Given the description of an element on the screen output the (x, y) to click on. 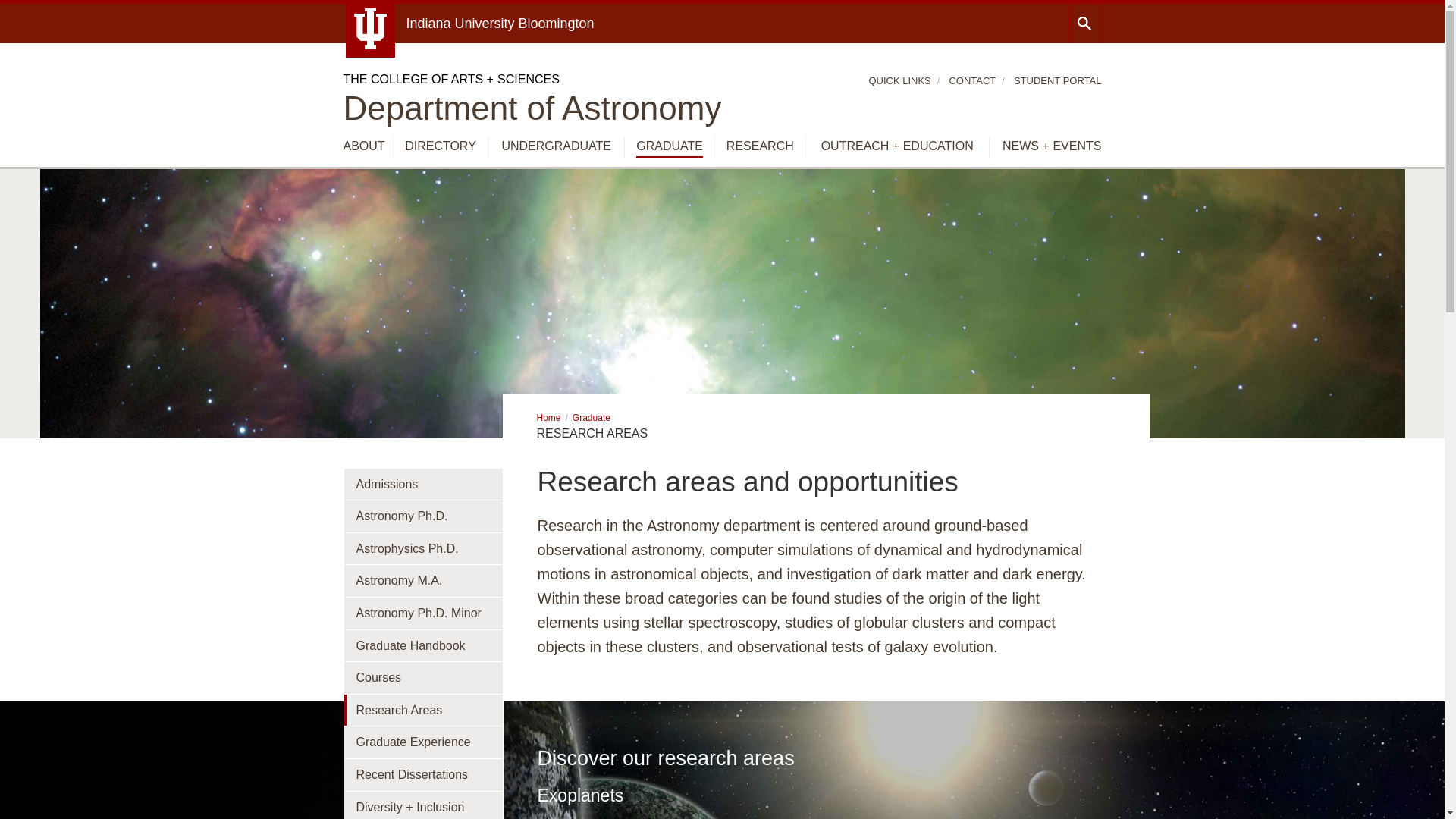
DIRECTORY (440, 146)
ABOUT (363, 146)
UNDERGRADUATE (555, 146)
Department of Astronomy (531, 107)
Indiana University Bloomington (500, 23)
GRADUATE (669, 147)
Indiana University Bloomington (500, 23)
